Given the description of an element on the screen output the (x, y) to click on. 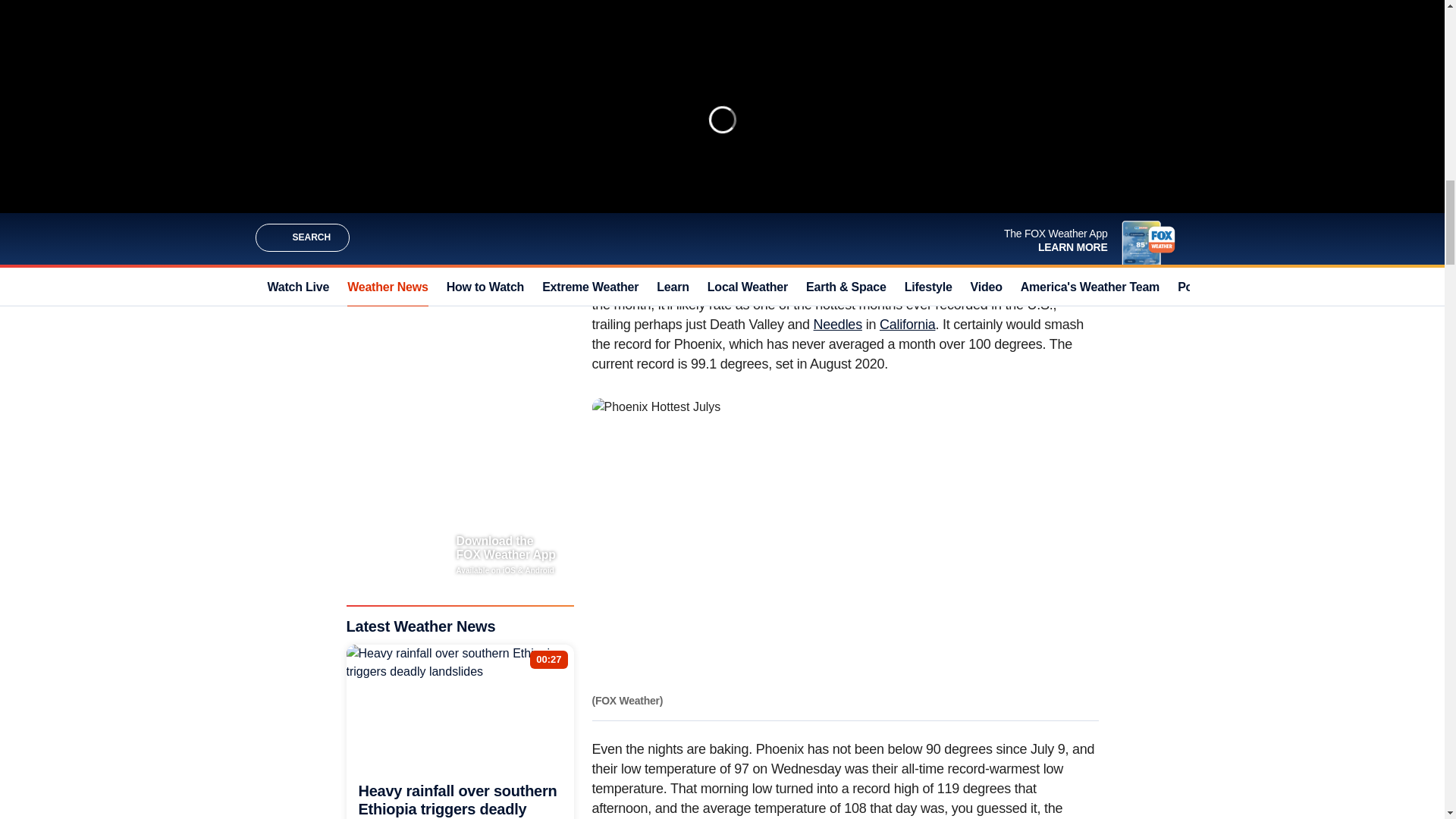
Needles (837, 324)
California (907, 324)
